Given the description of an element on the screen output the (x, y) to click on. 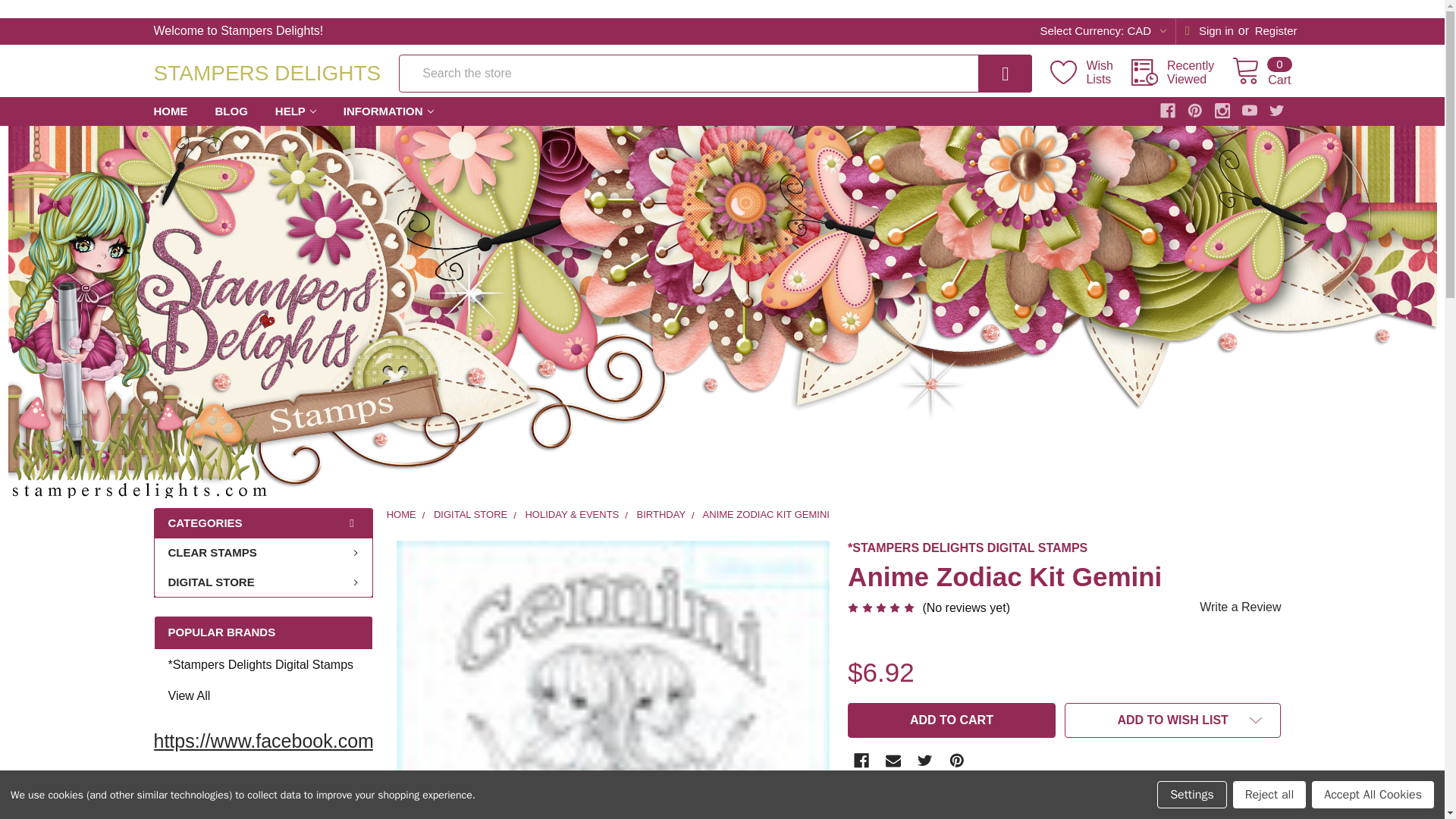
HELP (296, 111)
INFORMATION (1098, 31)
Wish Lists (388, 111)
Register (1090, 72)
HOME (1276, 31)
Add to Cart (169, 111)
STAMPERS DELIGHTS (951, 719)
BLOG (266, 105)
Search (1260, 72)
Search (232, 111)
Twitter (984, 73)
Cart (984, 73)
